Given the description of an element on the screen output the (x, y) to click on. 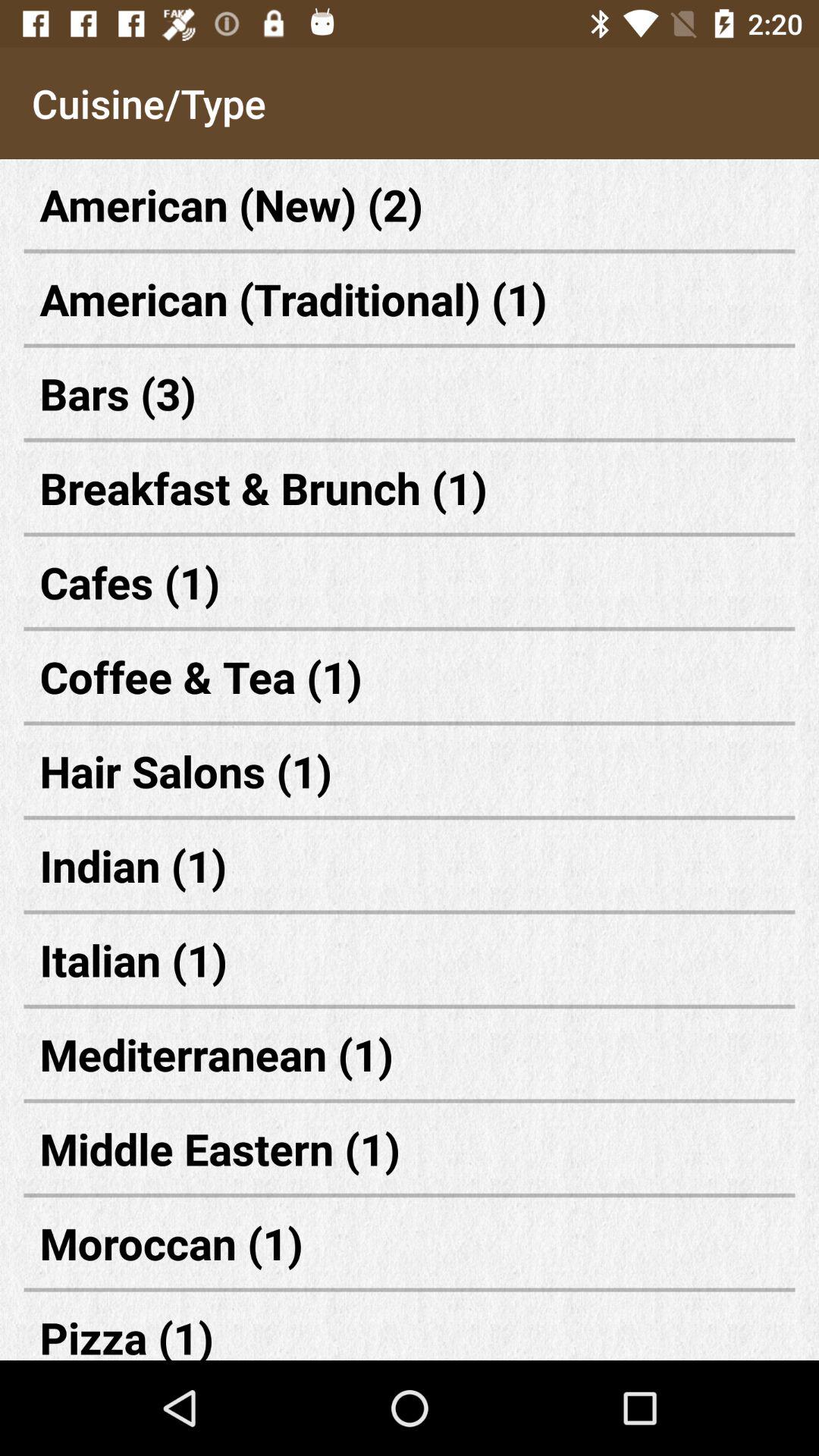
launch icon above hair salons (1) item (409, 676)
